Given the description of an element on the screen output the (x, y) to click on. 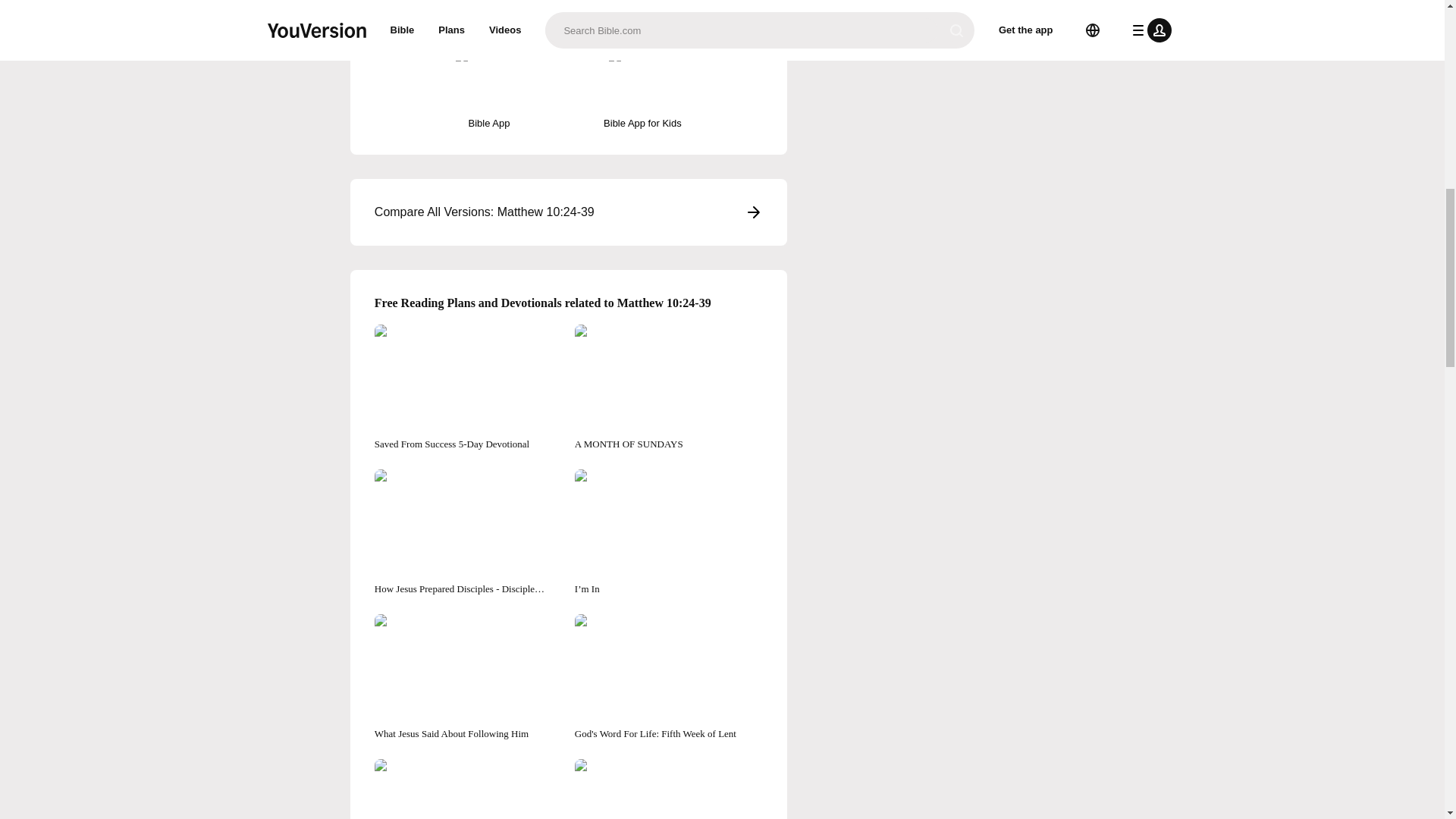
What Jesus Said About Following Him (468, 677)
Matthew's Message: Seven Nuggets (668, 789)
Compare All Versions: Matthew 10:24-39 (568, 212)
Saved From Success 5-Day Devotional (468, 387)
A MONTH OF SUNDAYS (668, 387)
Bible App for Kids (642, 90)
My Comfort Is Jesus (468, 789)
God's Word For Life: Fifth Week of Lent (668, 677)
